Given the description of an element on the screen output the (x, y) to click on. 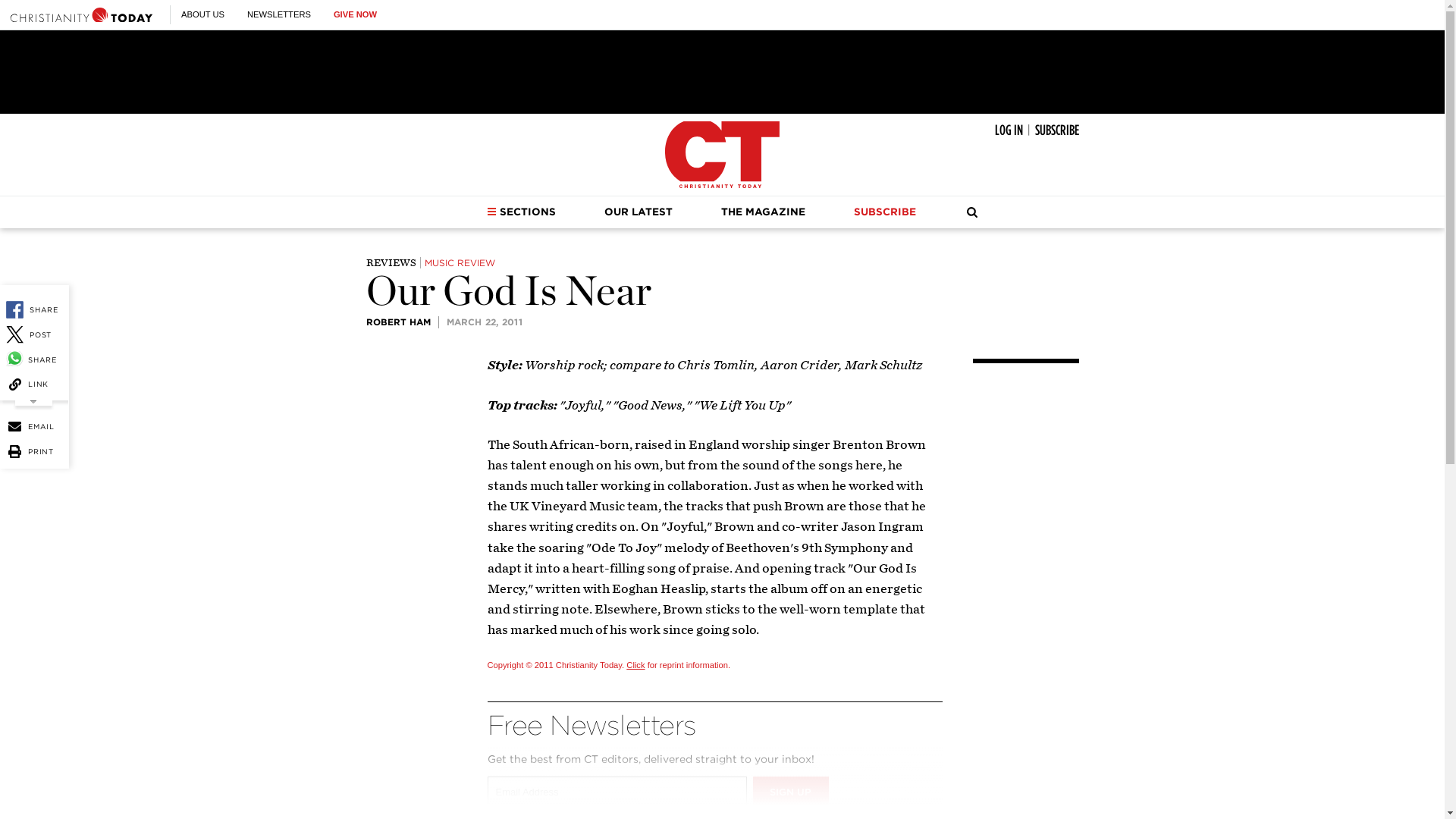
Sign Up (790, 791)
Christianity Today (81, 14)
NEWSLETTERS (278, 14)
Christianity Today (721, 154)
Email Address (615, 791)
SUBSCRIBE (1055, 130)
Sections Dropdown (491, 211)
GIVE NOW (355, 14)
ABOUT US (202, 14)
LOG IN (1008, 130)
3rd party ad content (721, 71)
SECTIONS (521, 212)
